Given the description of an element on the screen output the (x, y) to click on. 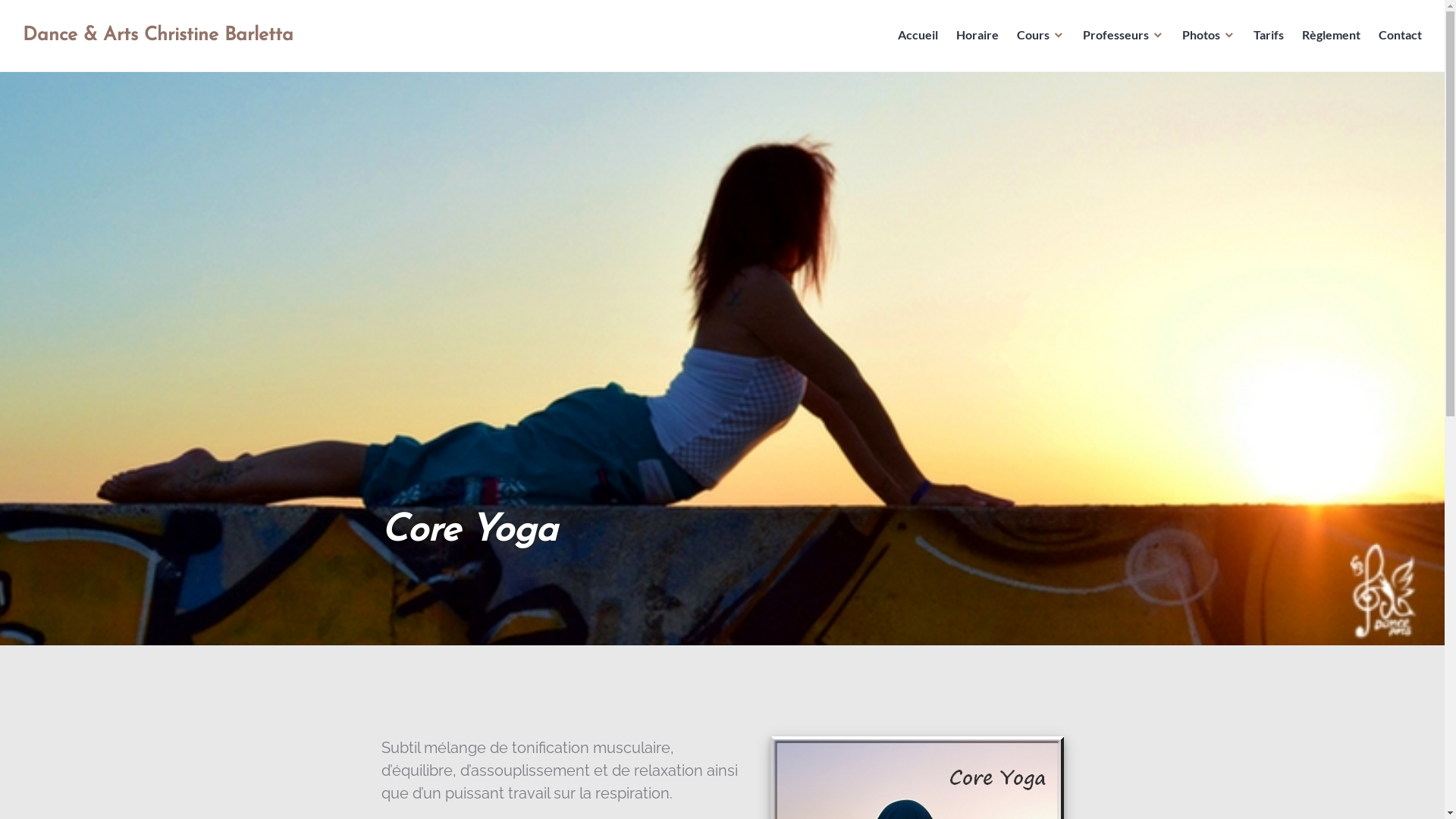
Accueil Element type: text (917, 35)
Professeurs Element type: text (1123, 35)
Dance & Arts Christine Barletta Element type: text (157, 34)
Horaire Element type: text (977, 35)
Cours Element type: text (1040, 35)
Photos Element type: text (1208, 35)
Contact Element type: text (1399, 35)
Tarifs Element type: text (1268, 35)
